Given the description of an element on the screen output the (x, y) to click on. 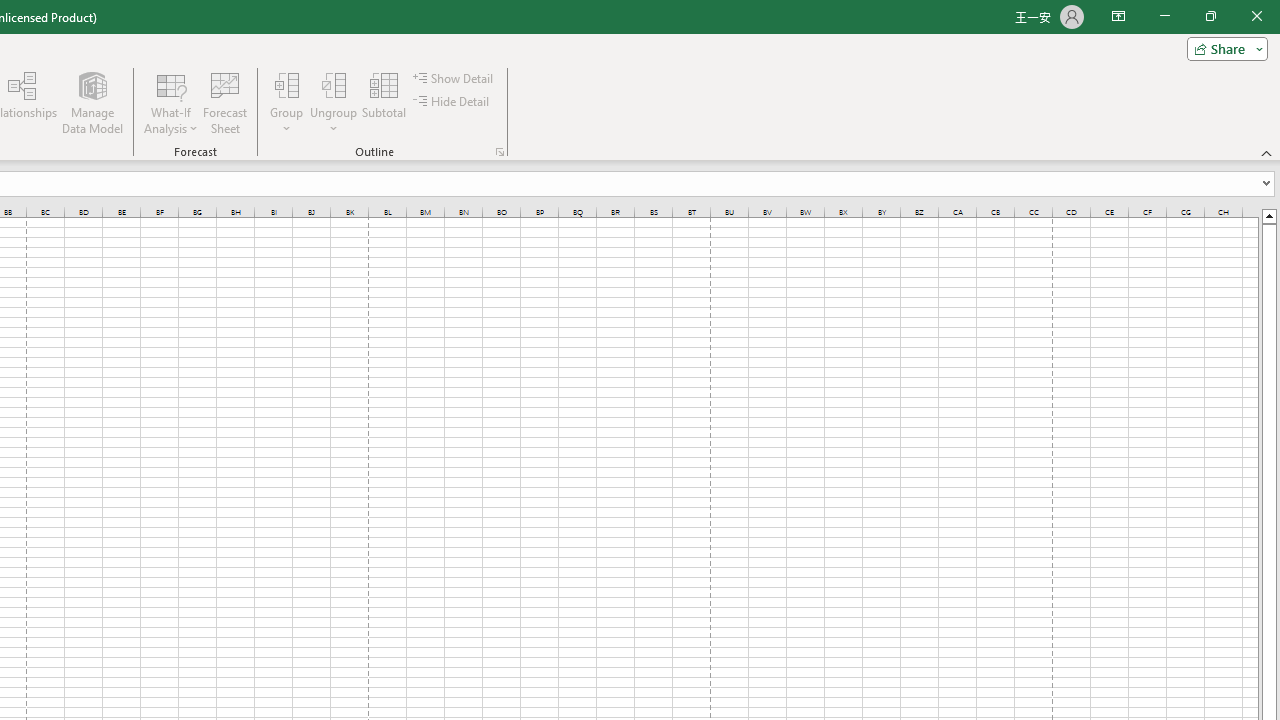
Forecast Sheet (224, 102)
